Given the description of an element on the screen output the (x, y) to click on. 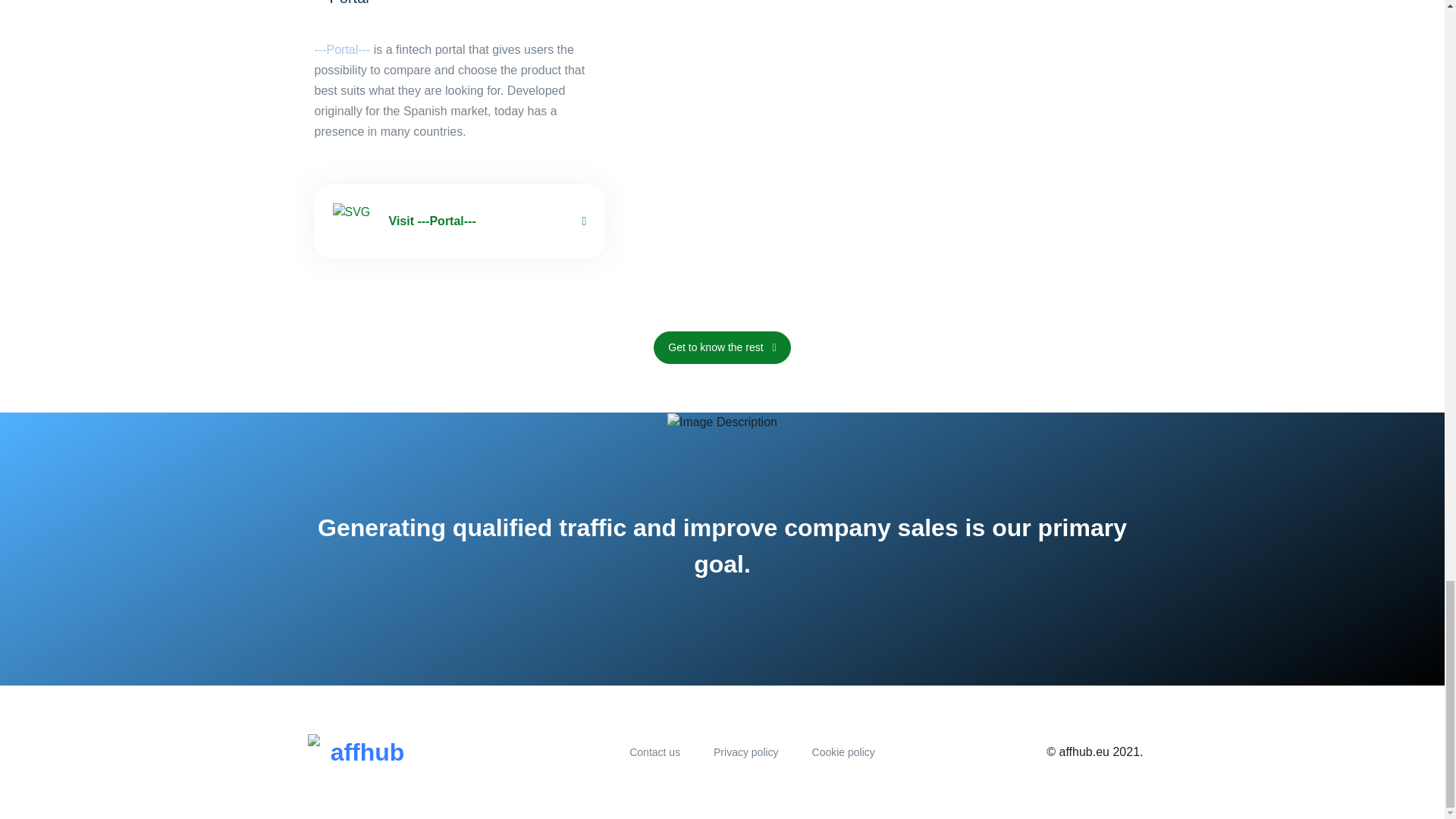
Privacy policy (745, 752)
Get to know the rest (21, 347)
Contact us (653, 752)
Cookie policy (843, 752)
